Given the description of an element on the screen output the (x, y) to click on. 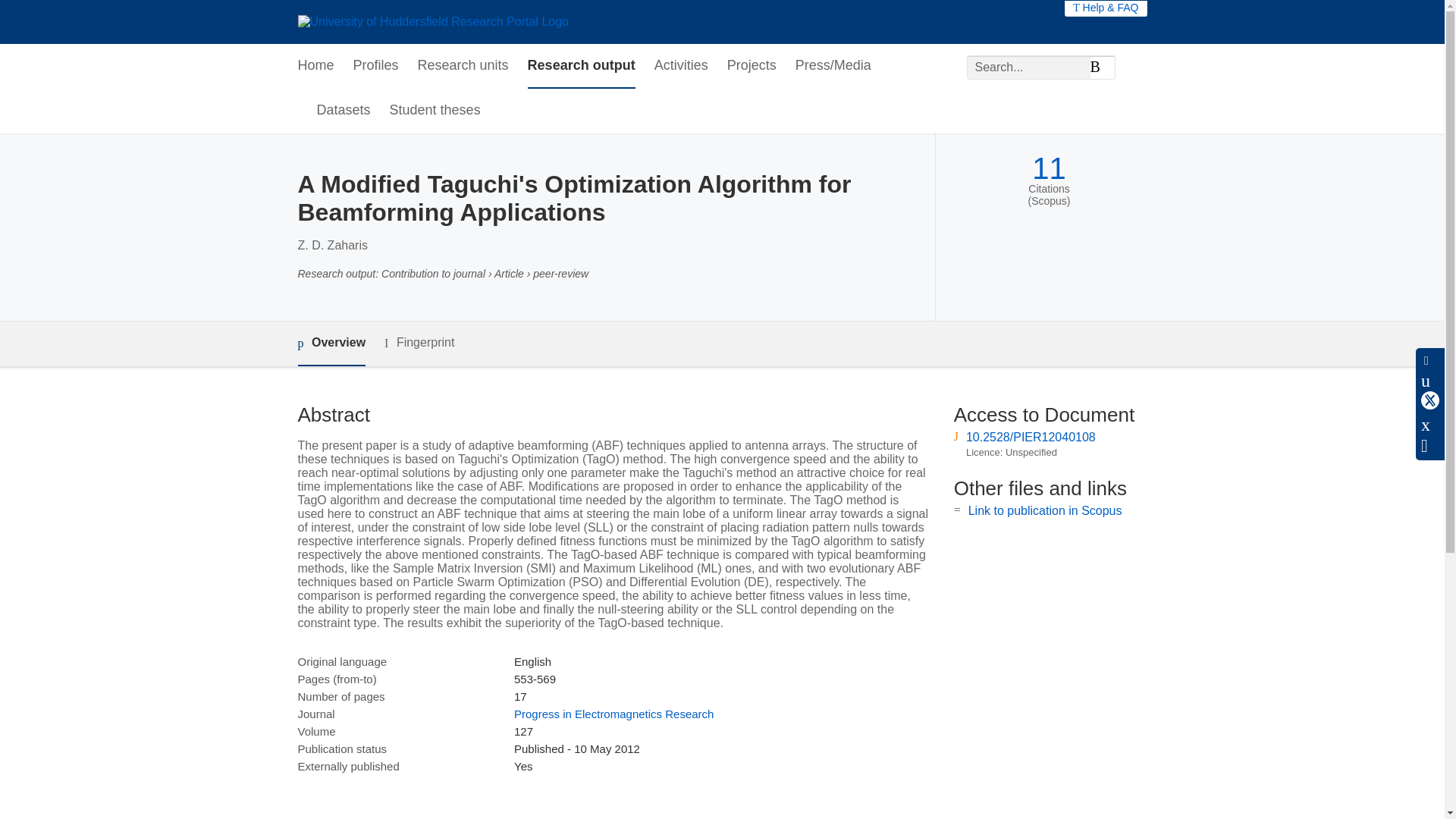
Datasets (344, 110)
Profiles (375, 66)
Student theses (435, 110)
Fingerprint (419, 342)
11 (1048, 168)
Research output (580, 66)
Progress in Electromagnetics Research (613, 713)
Activities (680, 66)
Projects (751, 66)
